Given the description of an element on the screen output the (x, y) to click on. 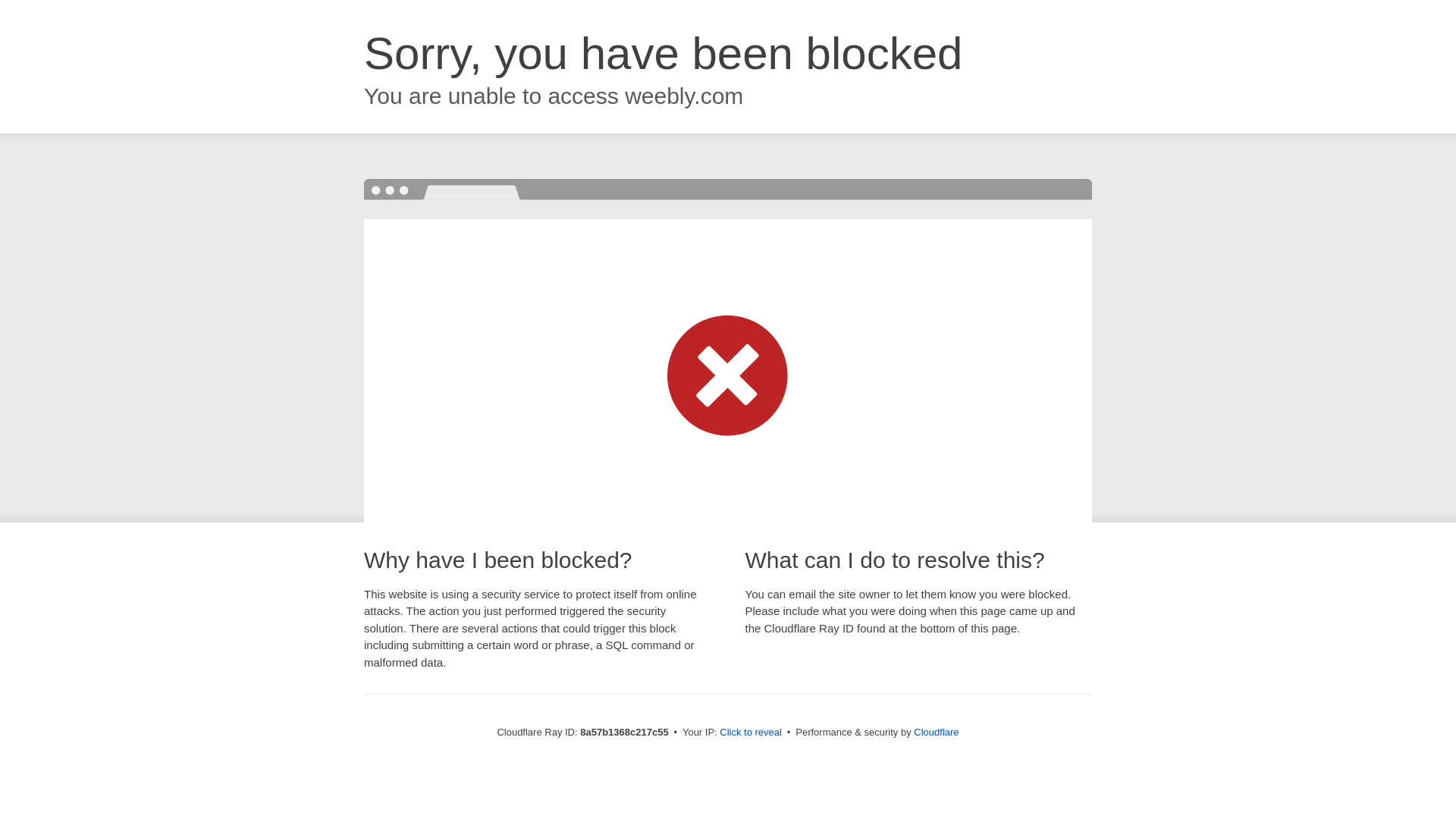
Click to reveal (750, 732)
Cloudflare (936, 731)
